Given the description of an element on the screen output the (x, y) to click on. 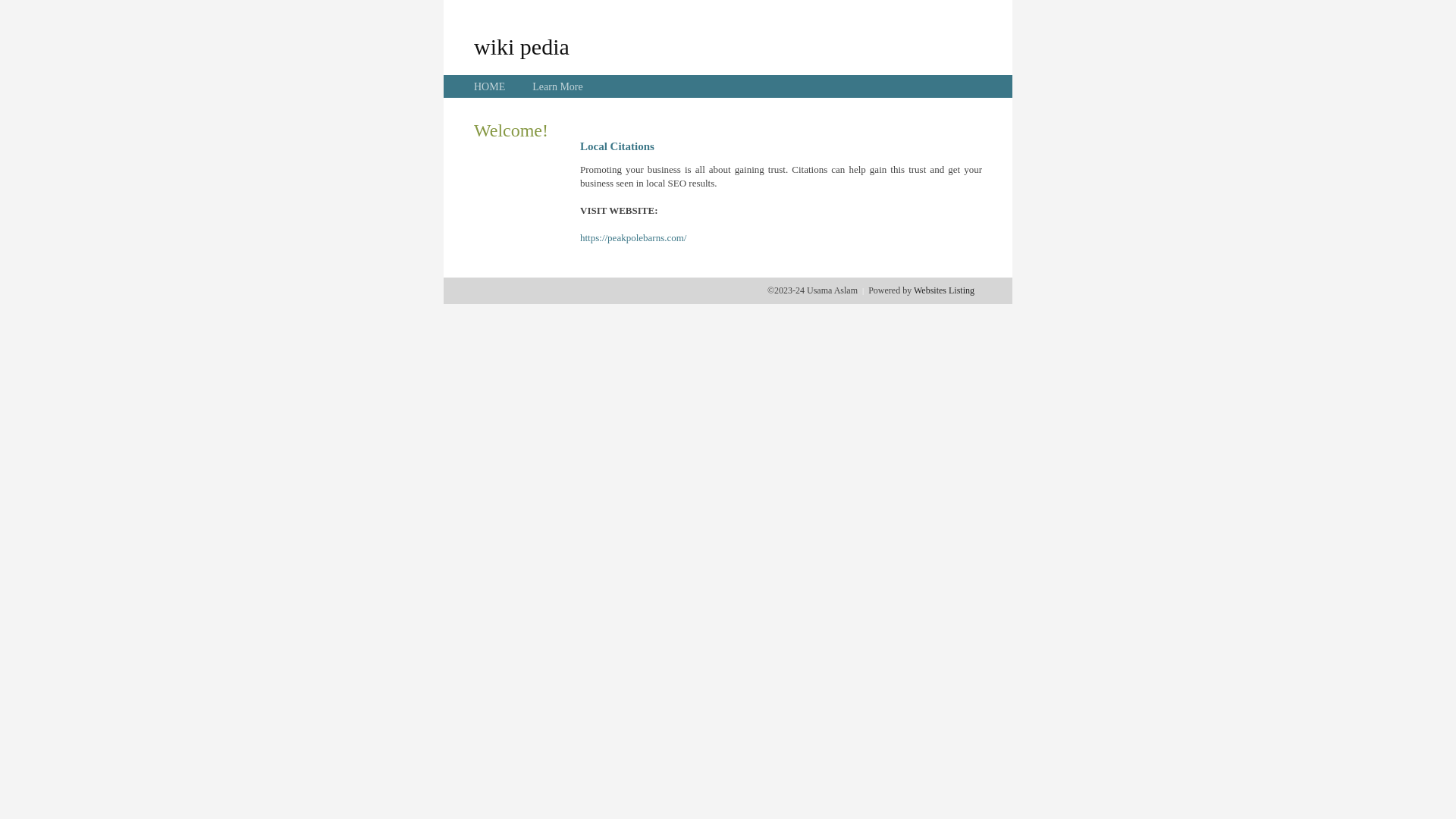
HOME Element type: text (489, 86)
Learn More Element type: text (557, 86)
https://peakpolebarns.com/ Element type: text (633, 237)
Websites Listing Element type: text (943, 290)
wiki pedia Element type: text (521, 46)
